Given the description of an element on the screen output the (x, y) to click on. 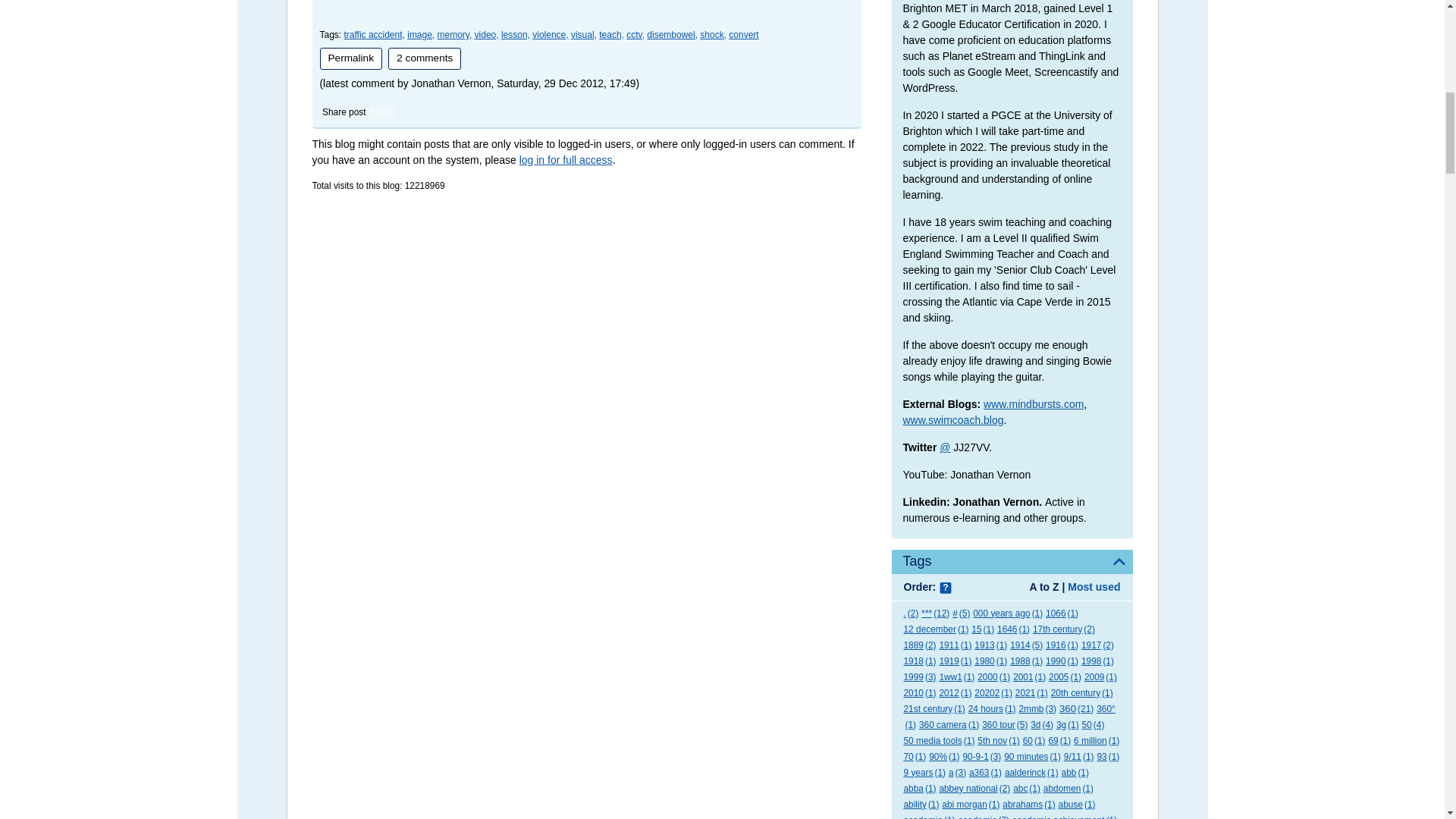
Help with Order: (945, 588)
www.swimcoach.blog (952, 419)
www.mindbursts.com (1033, 404)
Tags (1011, 561)
Most used (1093, 586)
